Given the description of an element on the screen output the (x, y) to click on. 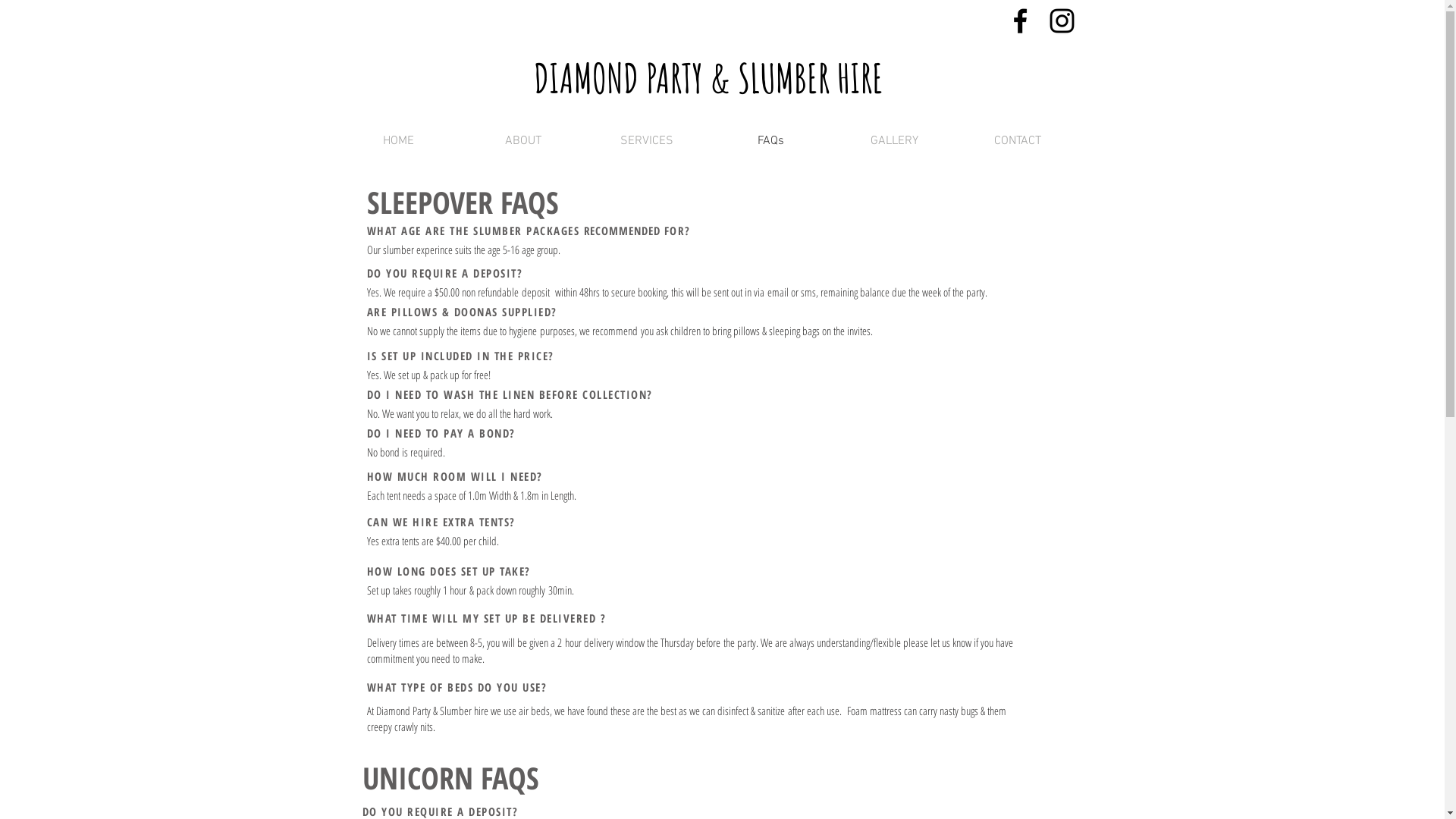
ABOUT Element type: text (523, 141)
DIAMOND PARTY & SLUMBER HIRE Element type: text (708, 77)
CONTACT Element type: text (1017, 141)
HOME Element type: text (398, 141)
SERVICES Element type: text (647, 141)
GALLERY Element type: text (894, 141)
FAQs Element type: text (769, 141)
